Given the description of an element on the screen output the (x, y) to click on. 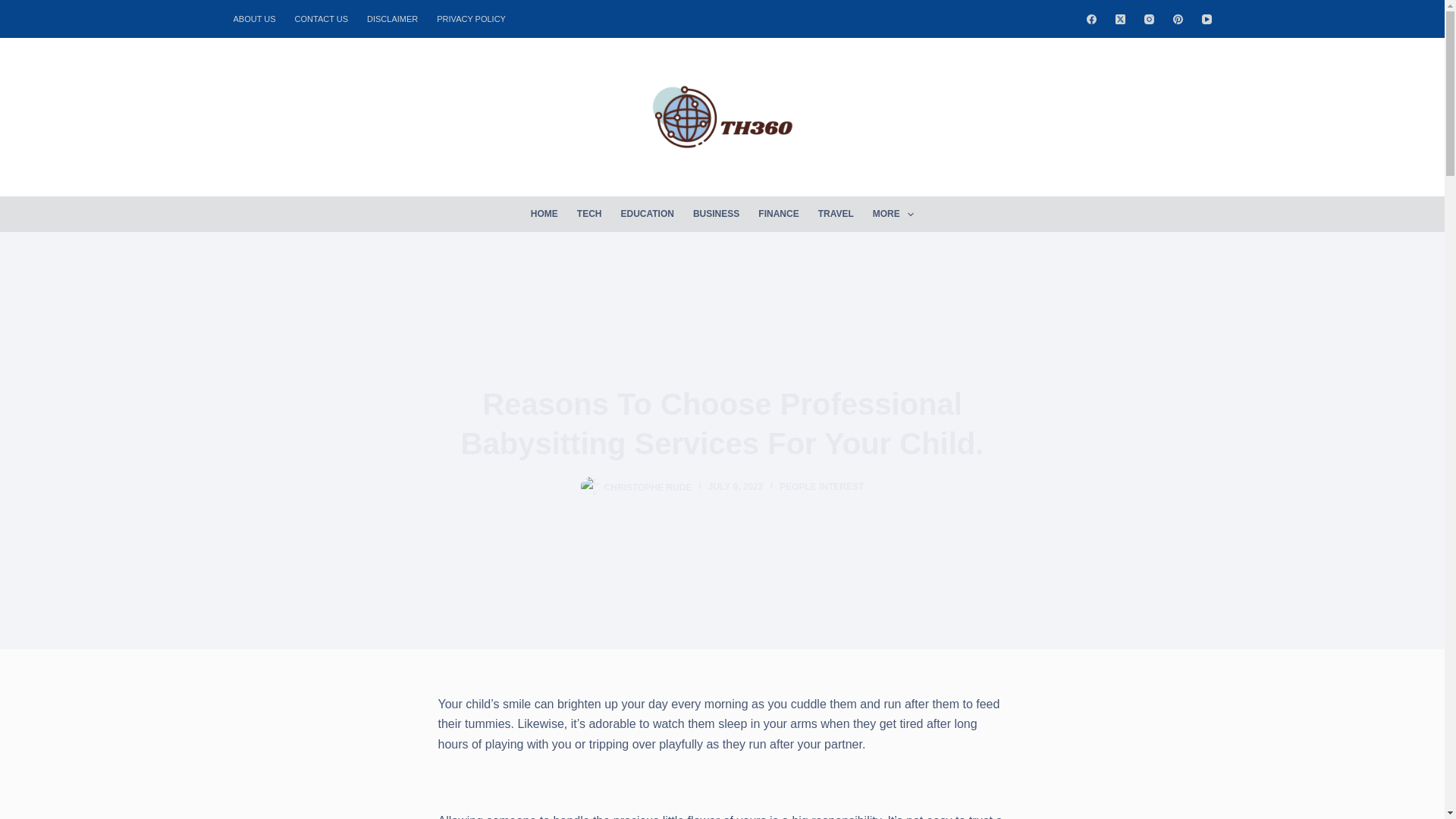
MORE (893, 213)
ABOUT US (258, 18)
HOME (544, 213)
BUSINESS (715, 213)
Skip to content (15, 7)
EDUCATION (646, 213)
Posts by Christophe Rude (648, 486)
FINANCE (778, 213)
DISCLAIMER (393, 18)
